Given the description of an element on the screen output the (x, y) to click on. 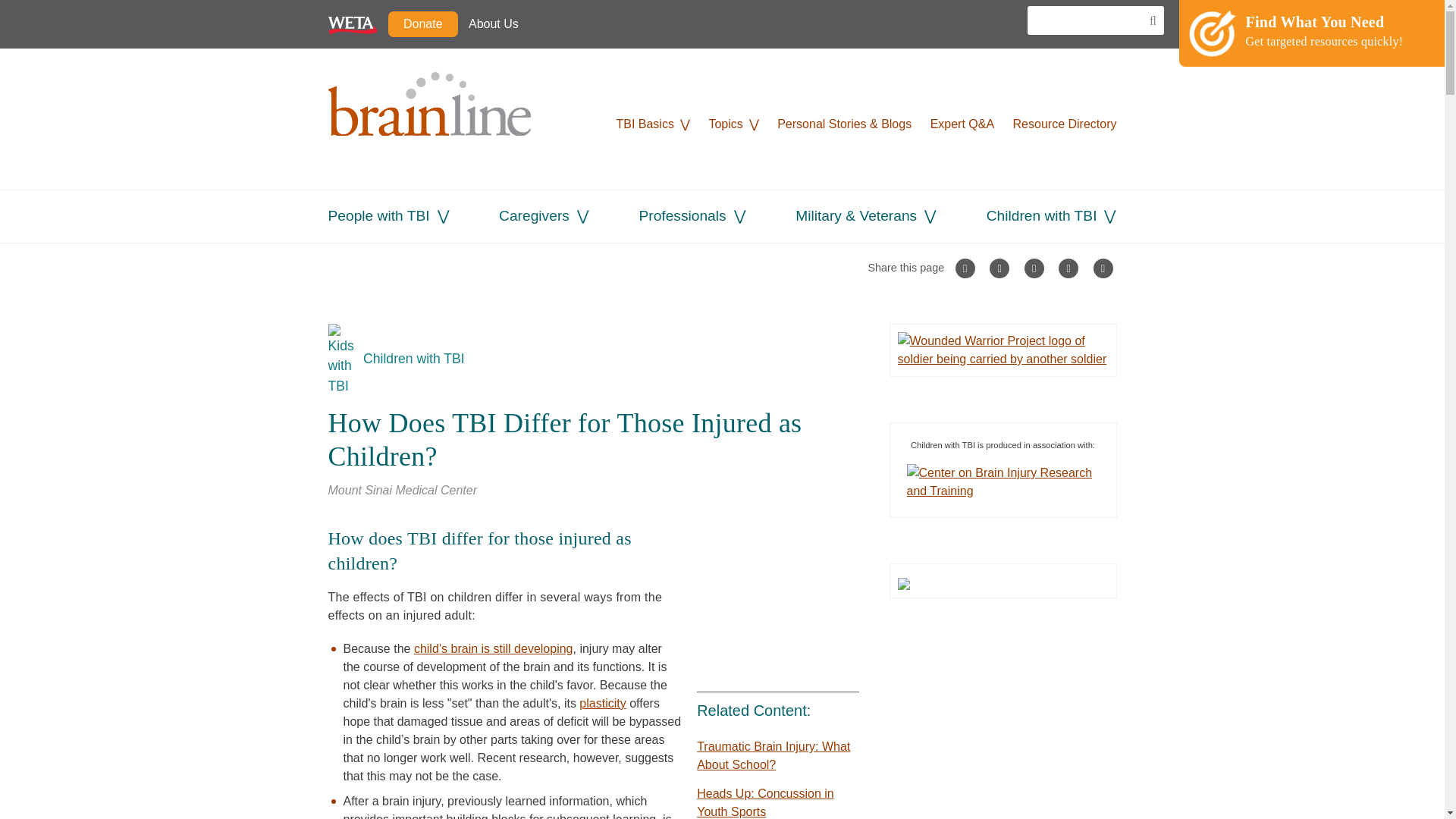
Resource Directory (1064, 123)
Twitter (571, 24)
People with TBI (378, 215)
Donate (423, 23)
Home (440, 119)
WETA (352, 24)
Facebook (607, 24)
TBI Basics (643, 123)
Search (1148, 21)
